Given the description of an element on the screen output the (x, y) to click on. 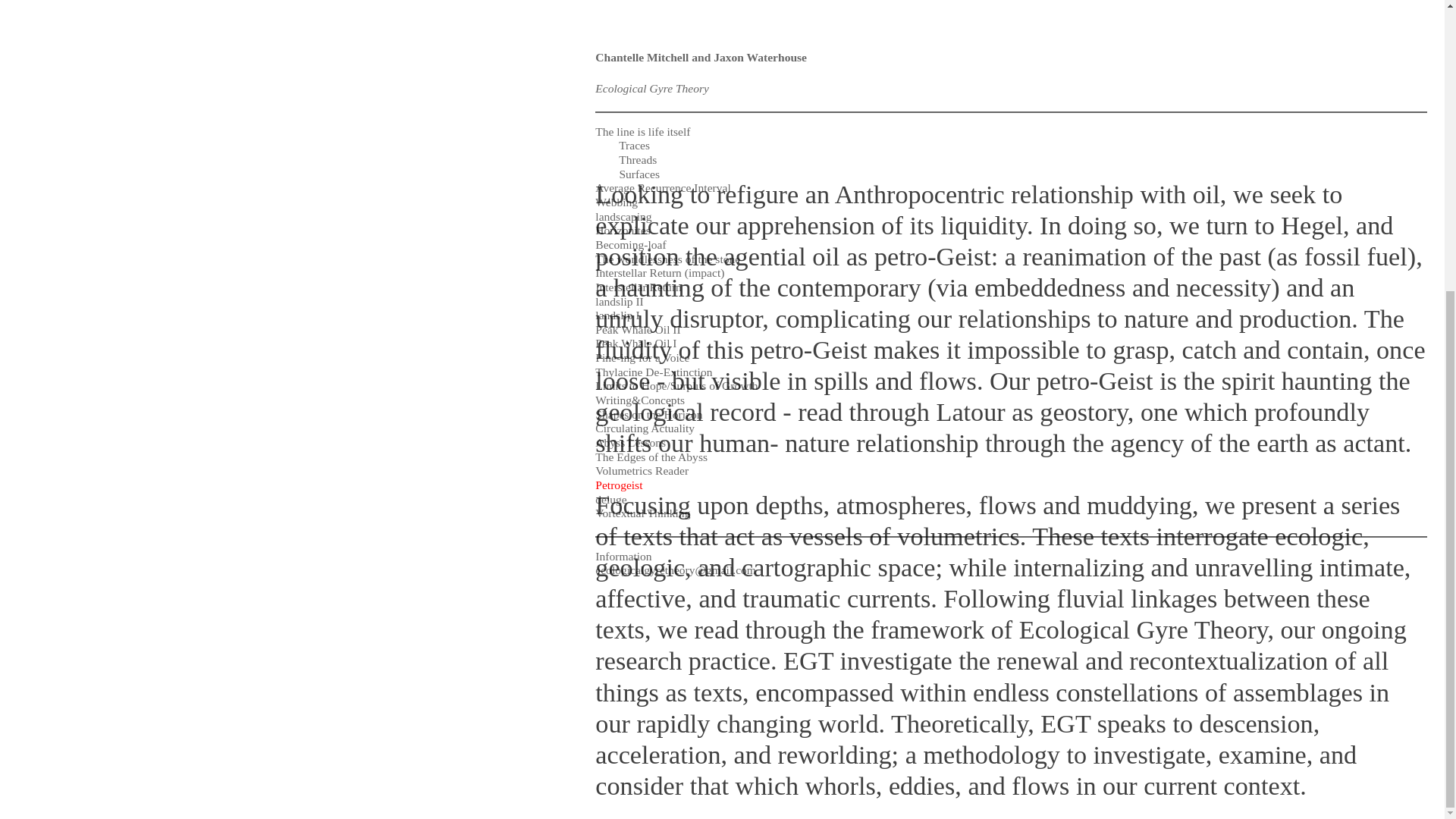
Volumetrics Reader (641, 26)
Abyss Lessons (630, 2)
deluge (610, 55)
Petrogeist (618, 41)
Vortextual Thinking (642, 69)
The Edges of the Abyss (651, 12)
